Given the description of an element on the screen output the (x, y) to click on. 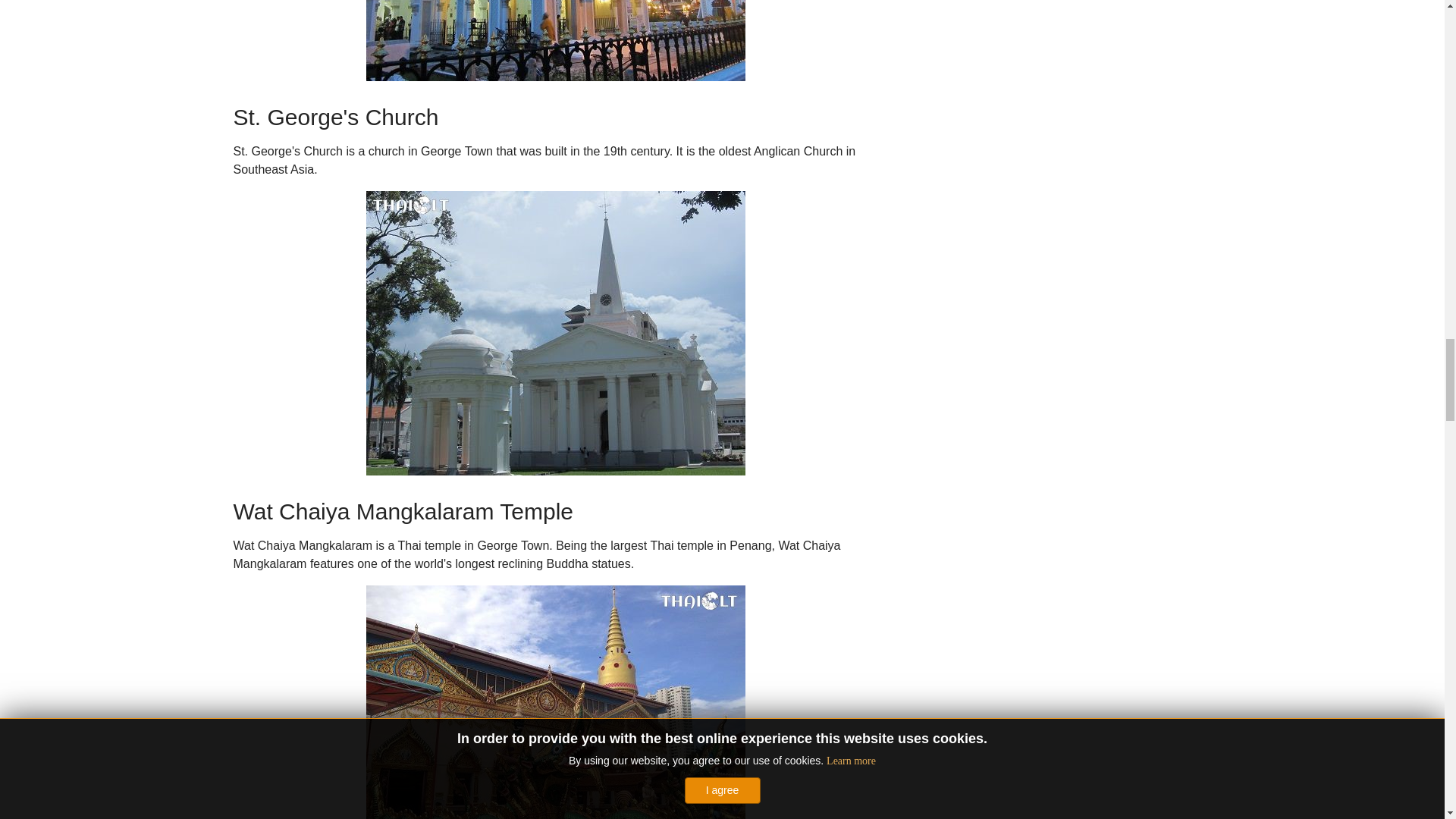
Masjid Kapitan Keling (554, 40)
Wat Chaiya Mangkalaram Temple (554, 702)
St. George's Church (554, 332)
